Given the description of an element on the screen output the (x, y) to click on. 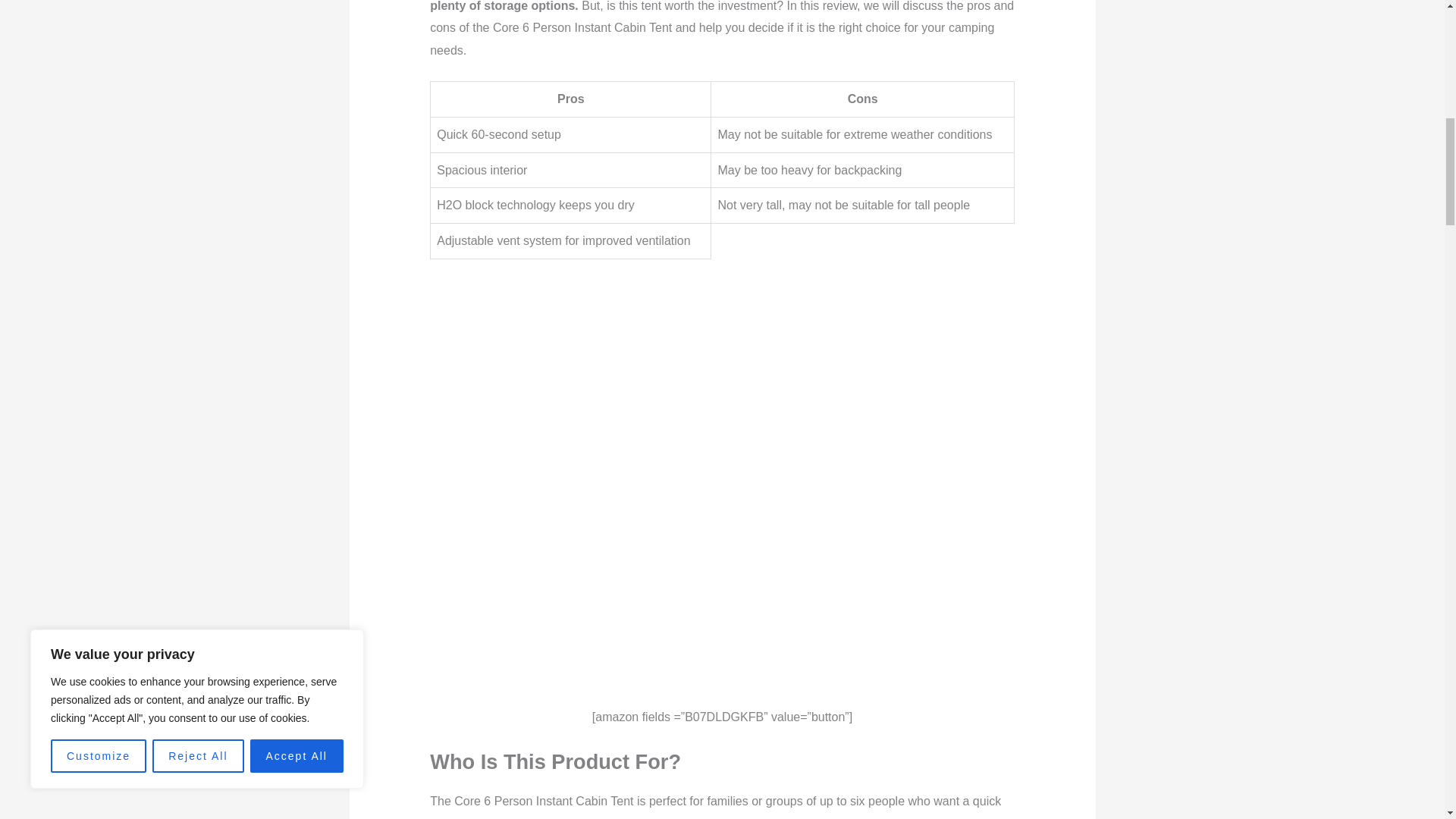
hikes (898, 818)
